Given the description of an element on the screen output the (x, y) to click on. 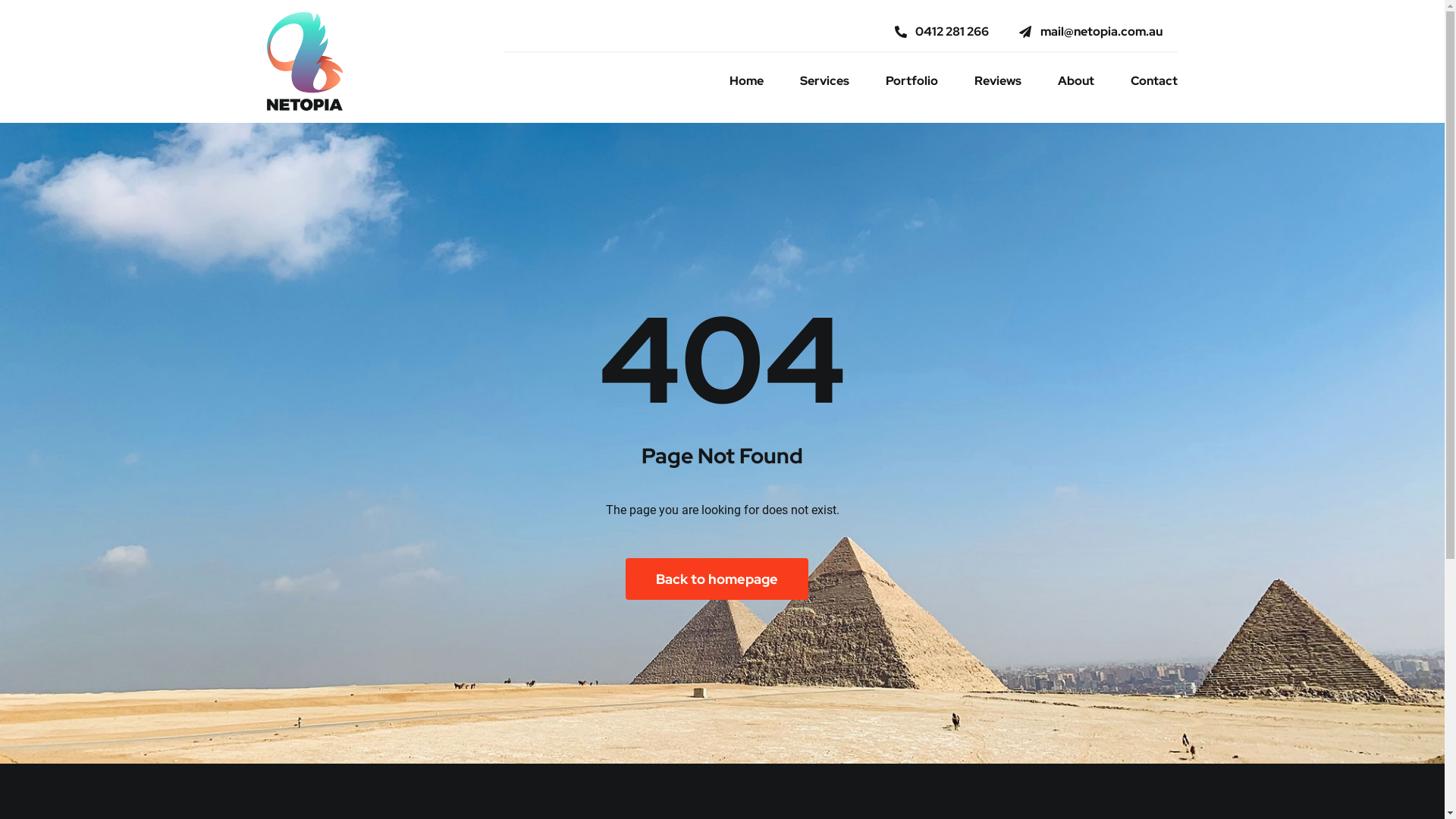
Home Element type: text (746, 80)
Portfolio Element type: text (911, 80)
About Element type: text (1075, 80)
mail@netopia.com.au Element type: text (1090, 31)
Reviews Element type: text (997, 80)
Services Element type: text (824, 80)
Contact Element type: text (1153, 80)
Back to homepage Element type: text (715, 578)
0412 281 266 Element type: text (941, 31)
